Given the description of an element on the screen output the (x, y) to click on. 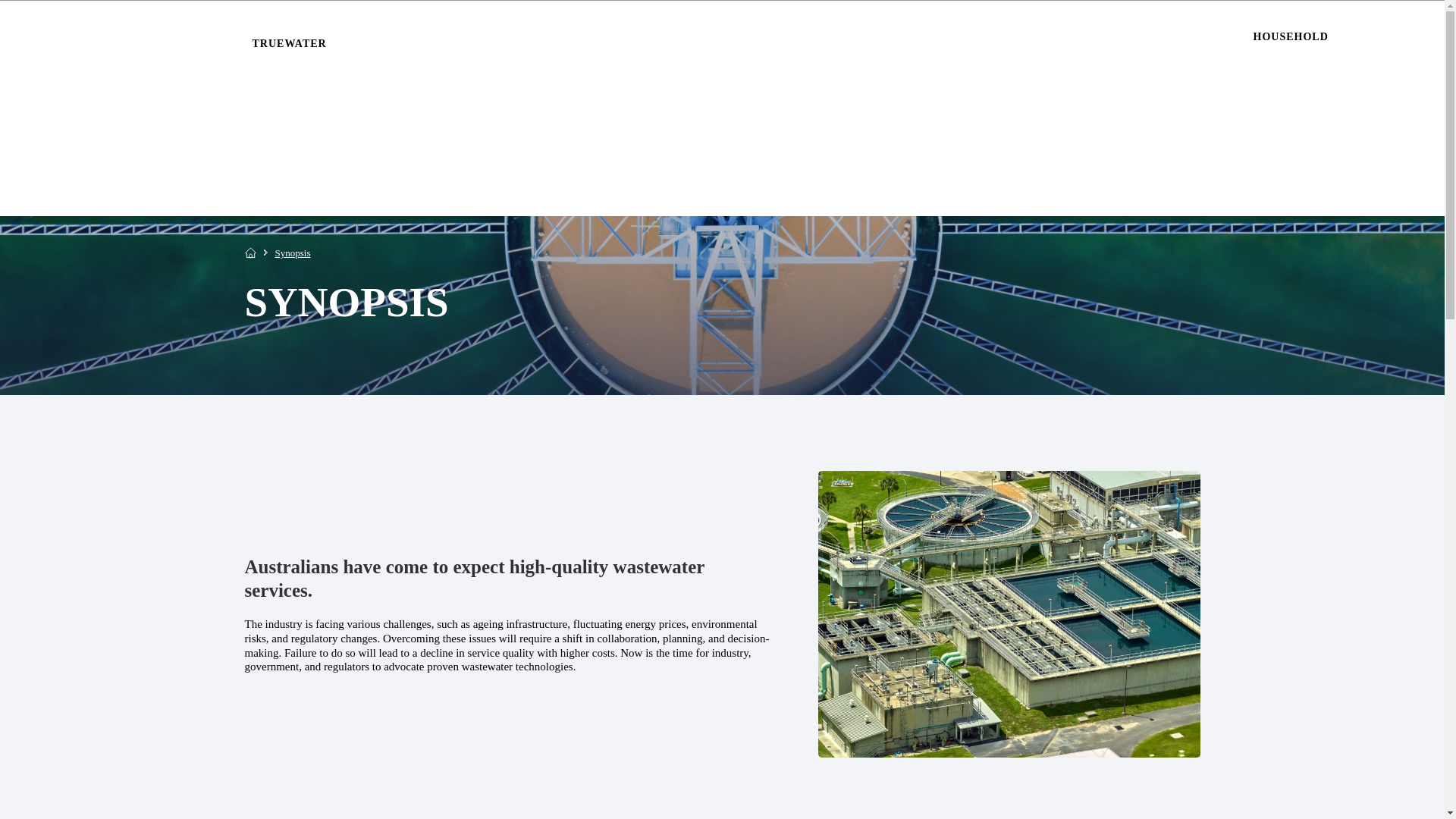
TRUEWATER (733, 43)
